Given the description of an element on the screen output the (x, y) to click on. 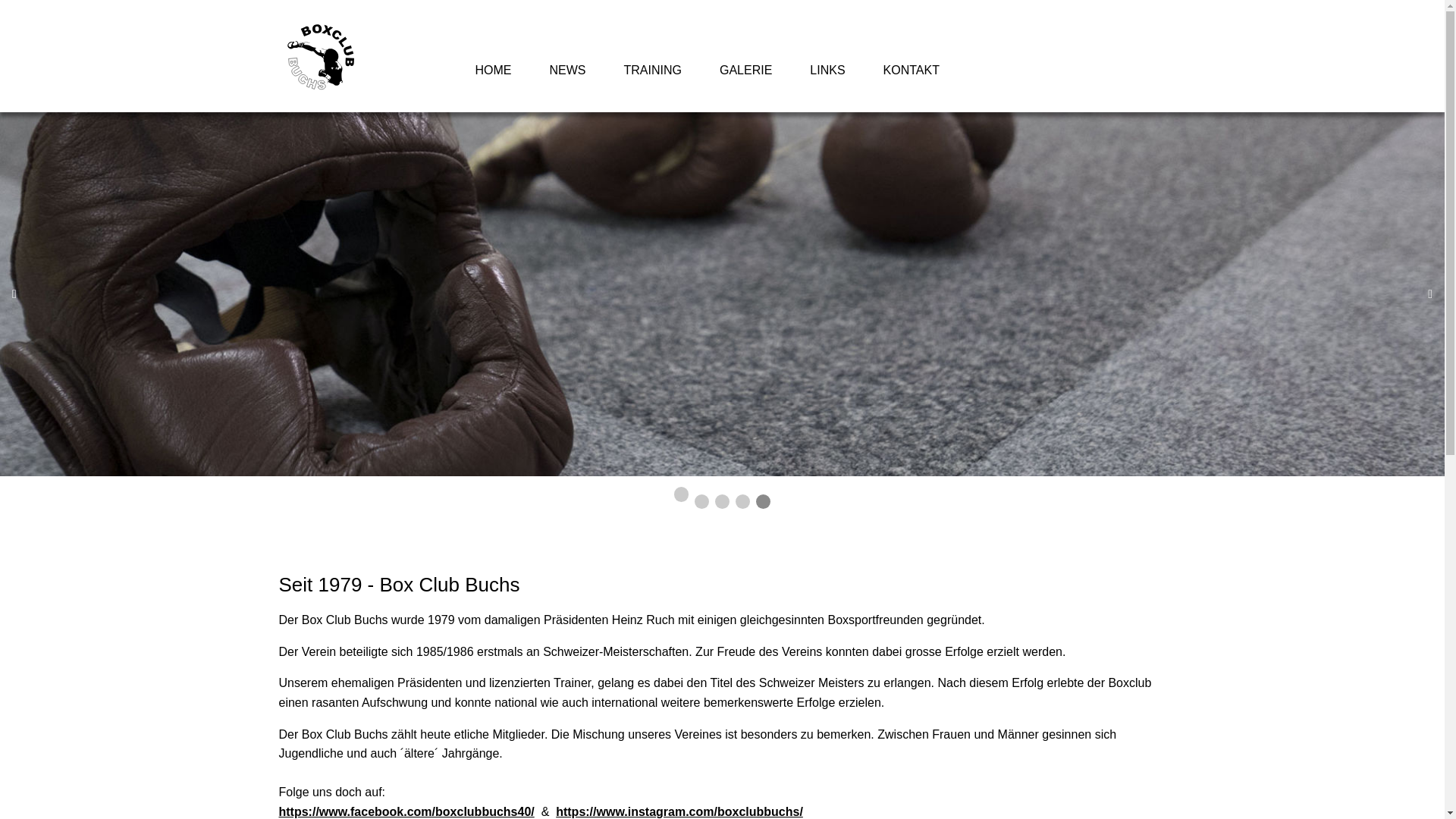
https://www.facebook.com/boxclubbuchs40/ Element type: text (406, 811)
HOME Element type: text (493, 70)
https://www.instagram.com/boxclubbuchs/ Element type: text (679, 811)
TRAINING Element type: text (652, 70)
LINKS Element type: text (826, 70)
KONTAKT Element type: text (911, 70)
NEWS Element type: text (567, 70)
Logo Boxclub Buchs Element type: hover (320, 56)
GALERIE Element type: text (745, 70)
Logo Boxclub Buchs Element type: hover (320, 55)
